Given the description of an element on the screen output the (x, y) to click on. 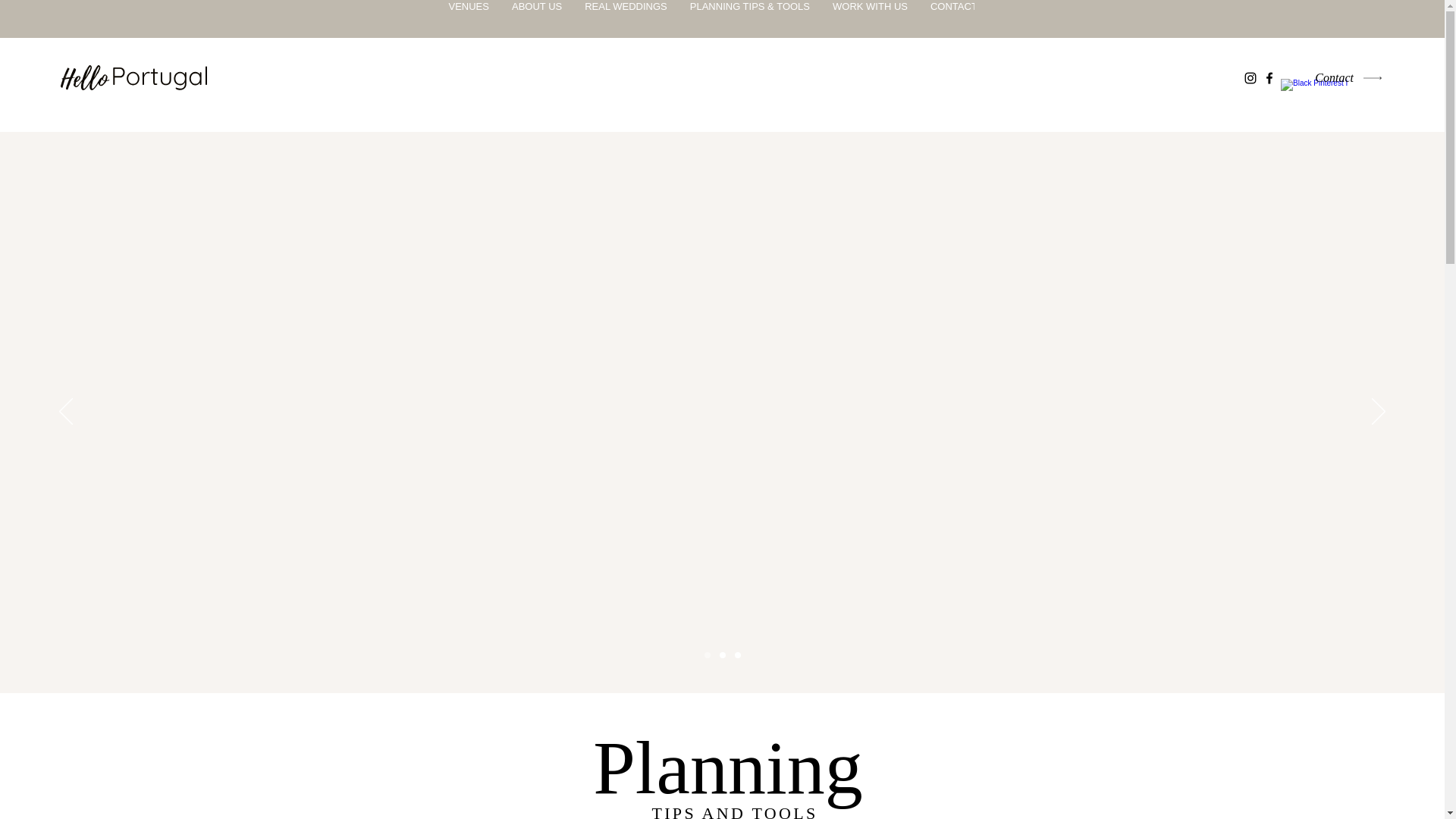
CONTACT (953, 18)
ABOUT US (536, 18)
Contact (1342, 77)
VENUES (467, 18)
WORK WITH US (869, 18)
REAL WEDDINGS (625, 18)
